Given the description of an element on the screen output the (x, y) to click on. 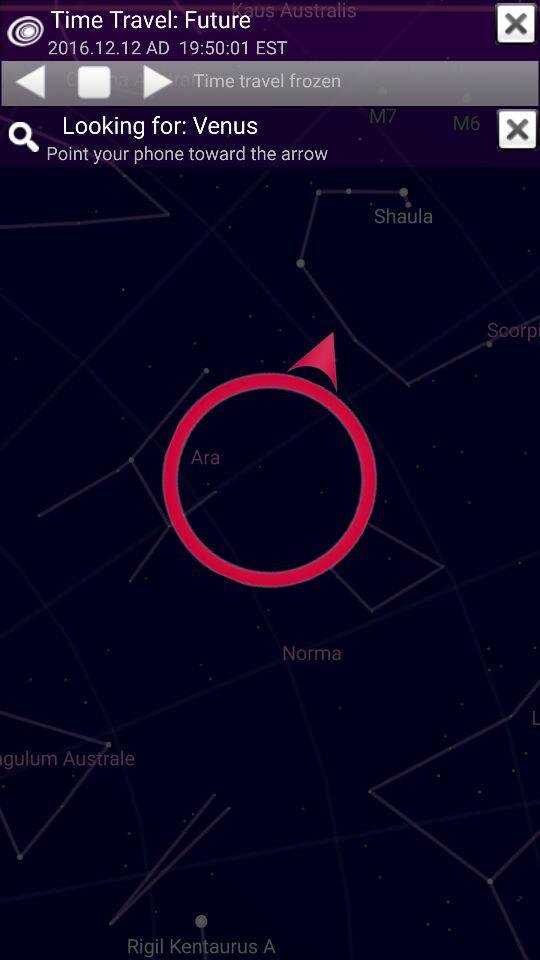
unfreeze time travel (94, 83)
